Given the description of an element on the screen output the (x, y) to click on. 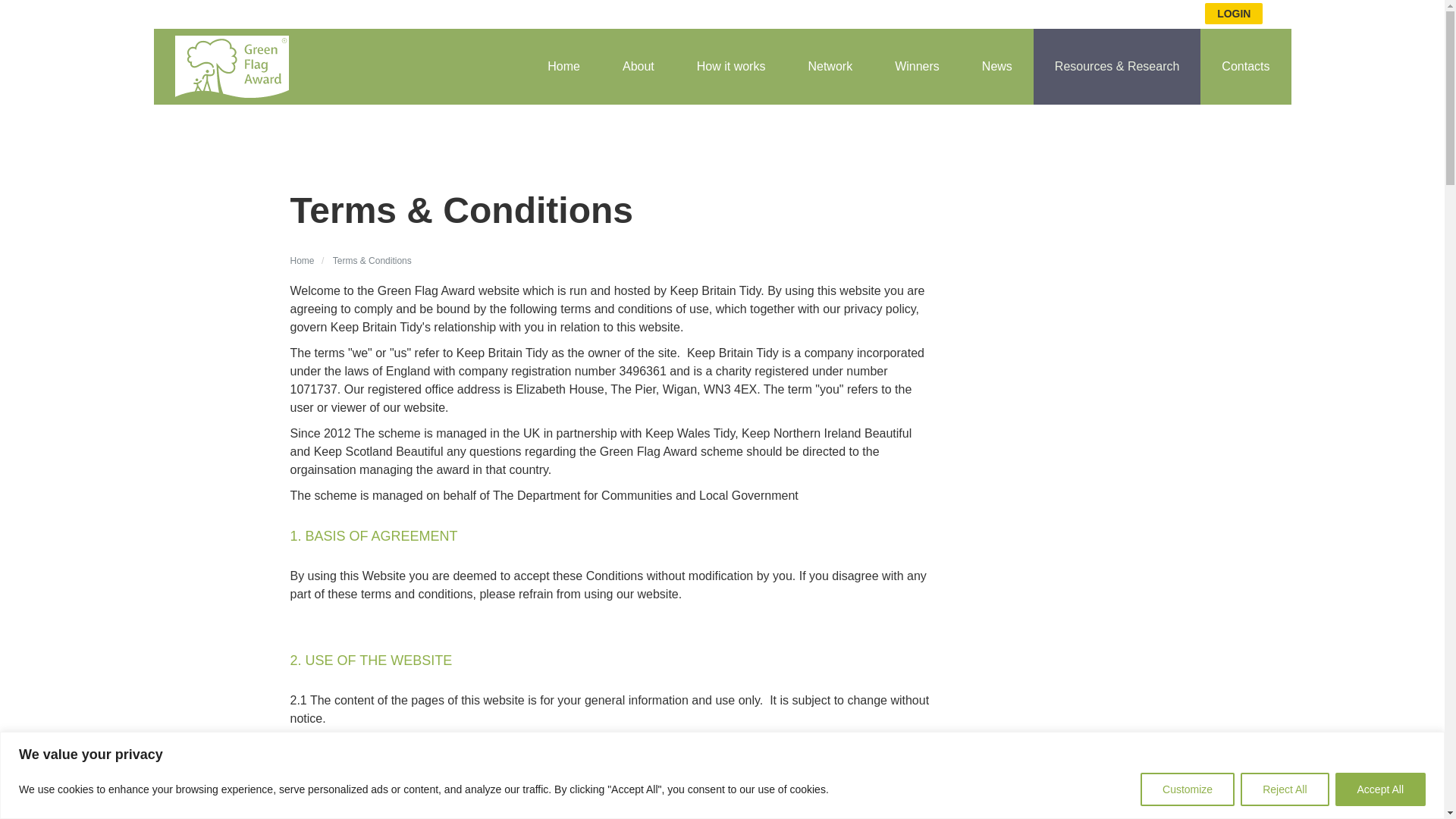
Accept All (1380, 788)
How it works (731, 66)
Reject All (1283, 788)
LOGIN (1233, 13)
Customize (1187, 788)
About (638, 66)
Home (301, 260)
Home (563, 66)
